Given the description of an element on the screen output the (x, y) to click on. 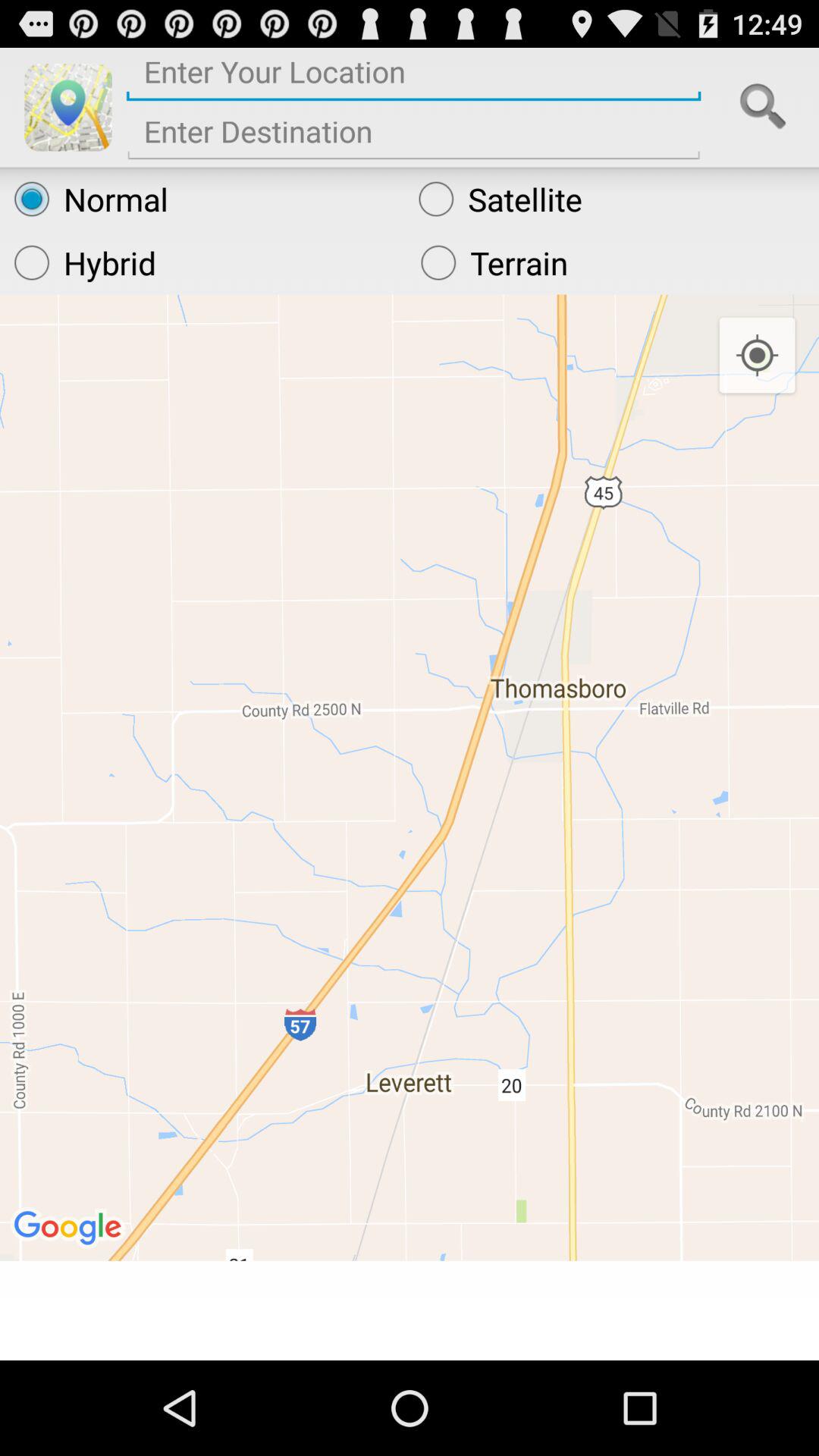
press item below terrain (757, 356)
